Given the description of an element on the screen output the (x, y) to click on. 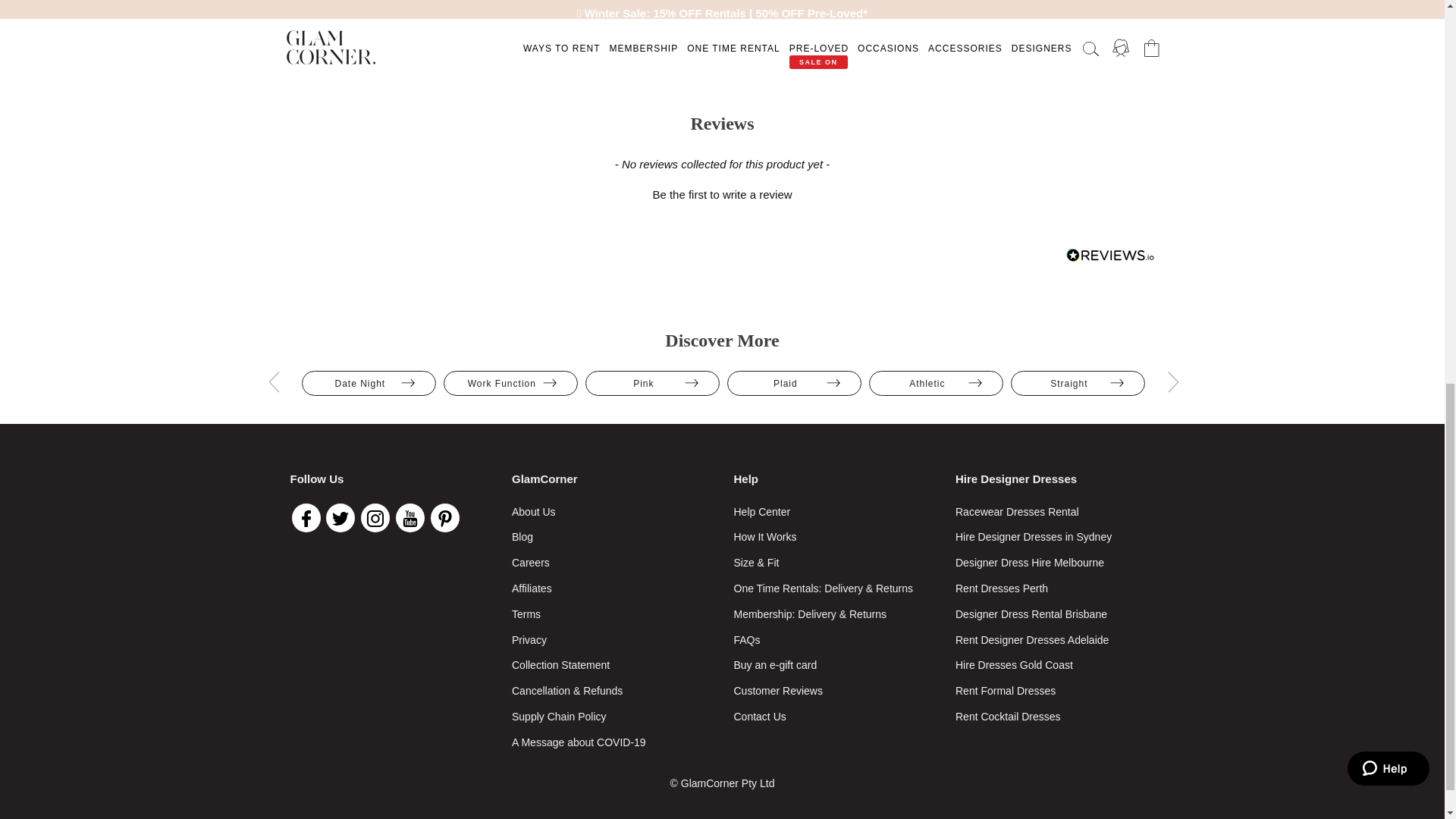
Facebook (305, 517)
Twitter (340, 517)
Instagram (375, 517)
Youtube (410, 517)
Pinterest (445, 517)
